Given the description of an element on the screen output the (x, y) to click on. 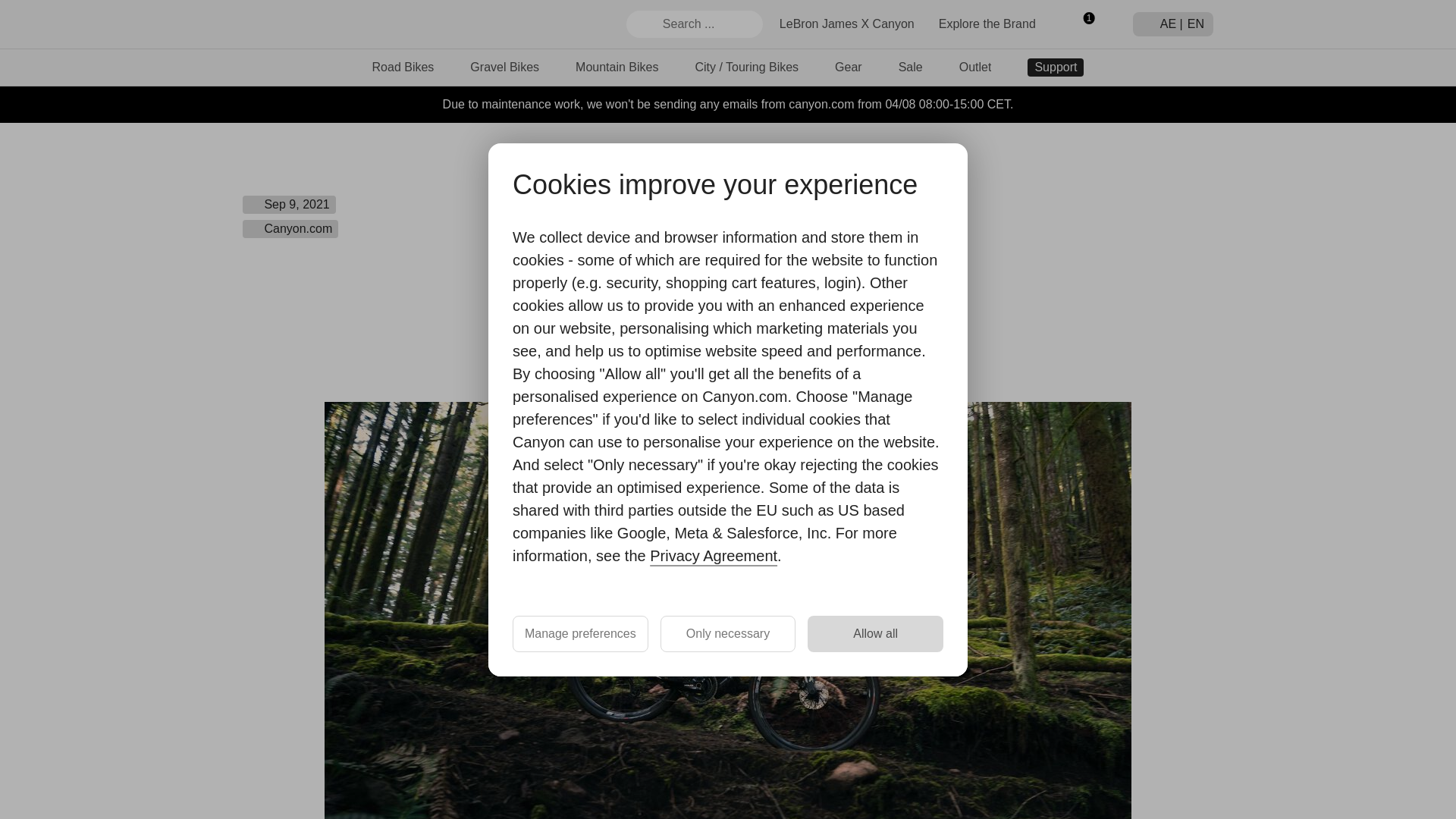
Canyon (297, 23)
Search ... (694, 23)
1 (1082, 24)
LeBron James X Canyon (846, 23)
Explore the Brand (987, 23)
Road Bikes (402, 67)
